Given the description of an element on the screen output the (x, y) to click on. 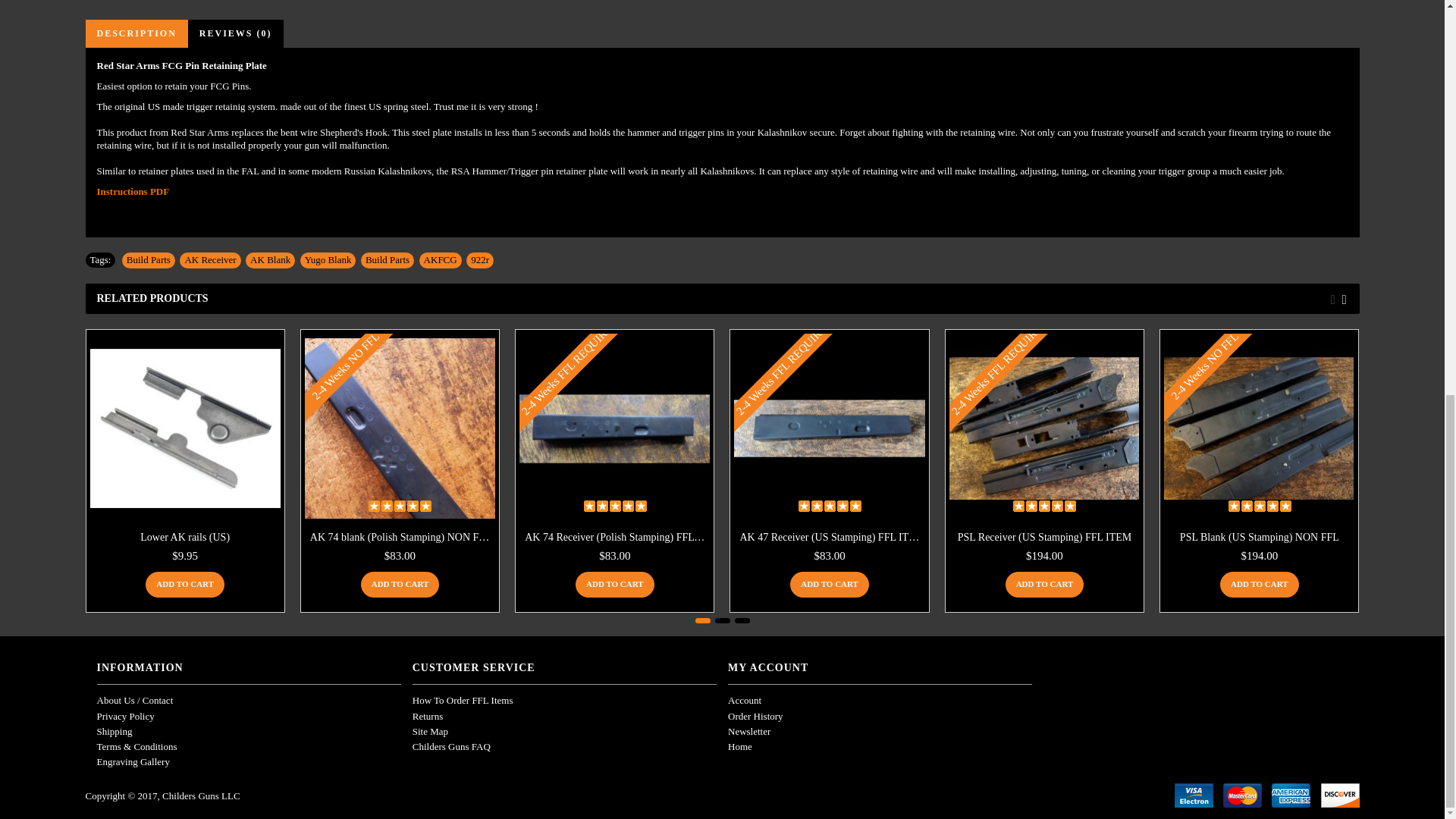
Instructions PDF (133, 191)
DESCRIPTION (135, 33)
